Given the description of an element on the screen output the (x, y) to click on. 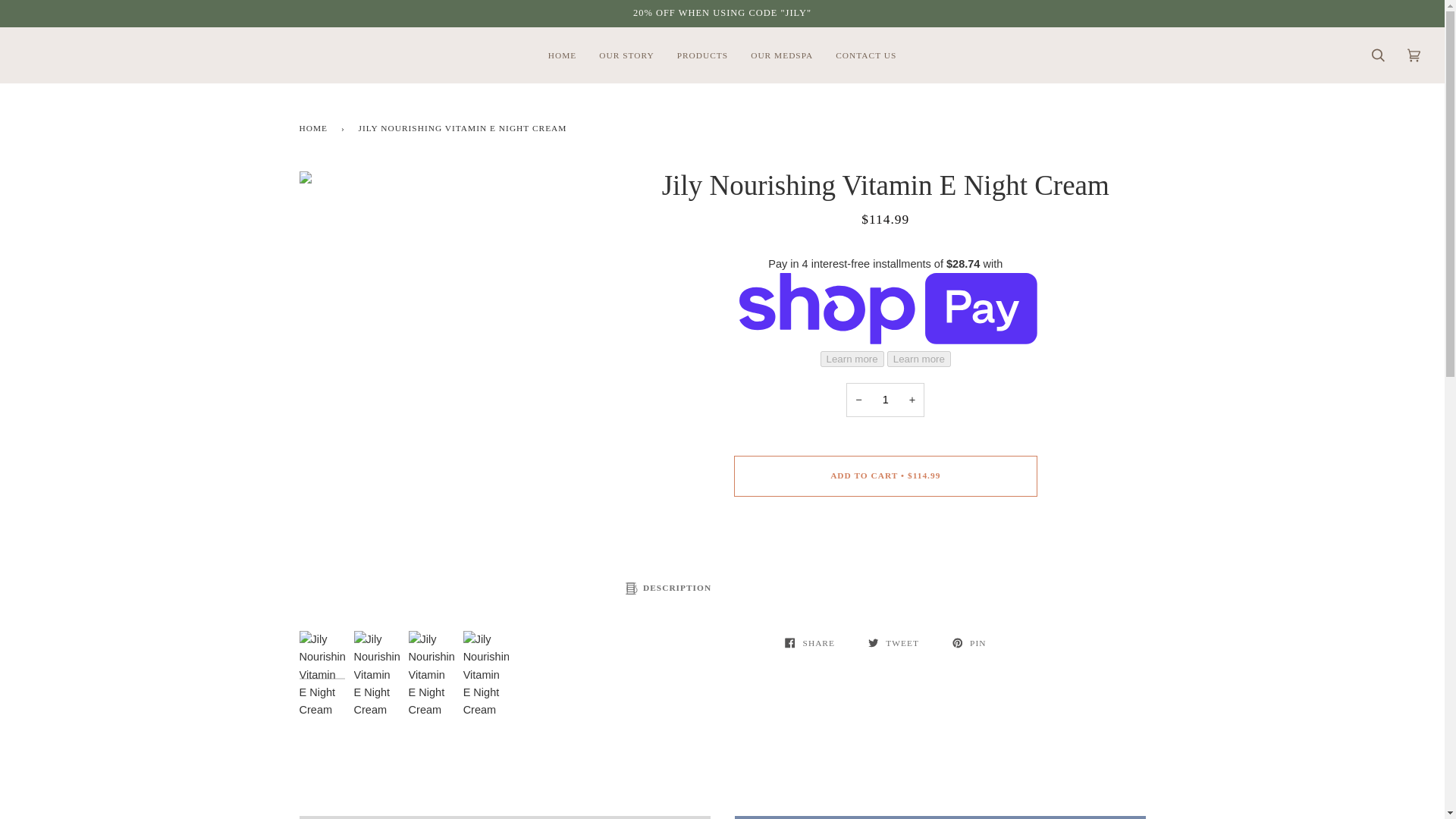
OUR MEDSPA (781, 55)
OUR STORY (626, 55)
HOME (562, 55)
1 (884, 399)
CONTACT US (865, 55)
HOME (315, 127)
Back to the frontpage (315, 127)
PRODUCTS (702, 55)
